Given the description of an element on the screen output the (x, y) to click on. 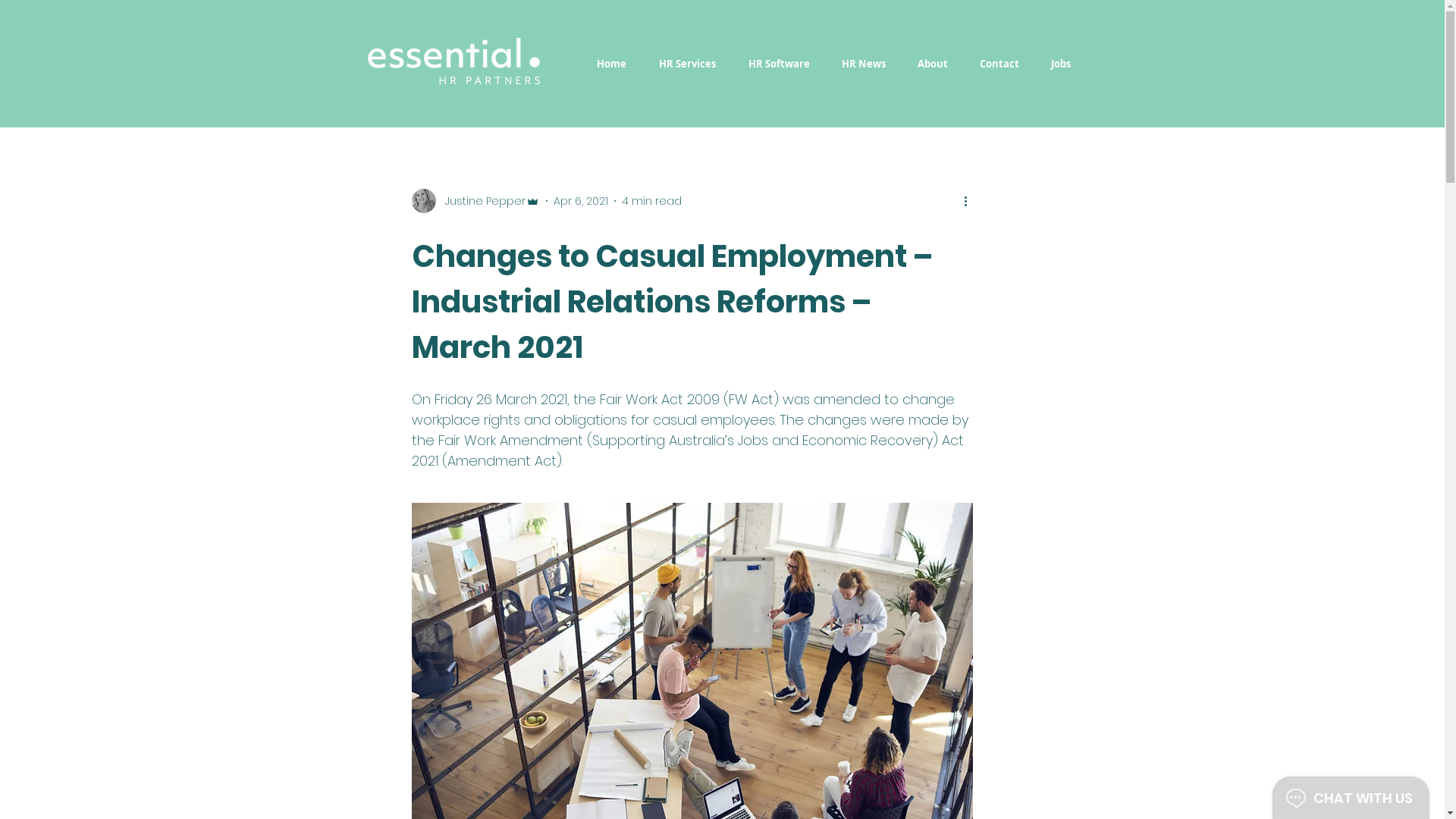
Home Element type: text (619, 63)
About Element type: text (941, 63)
HR Software Element type: text (786, 63)
HR News Element type: text (872, 63)
Justine Pepper Element type: text (475, 200)
HR Services Element type: text (695, 63)
Contact Element type: text (1007, 63)
Jobs Element type: text (1069, 63)
